Given the description of an element on the screen output the (x, y) to click on. 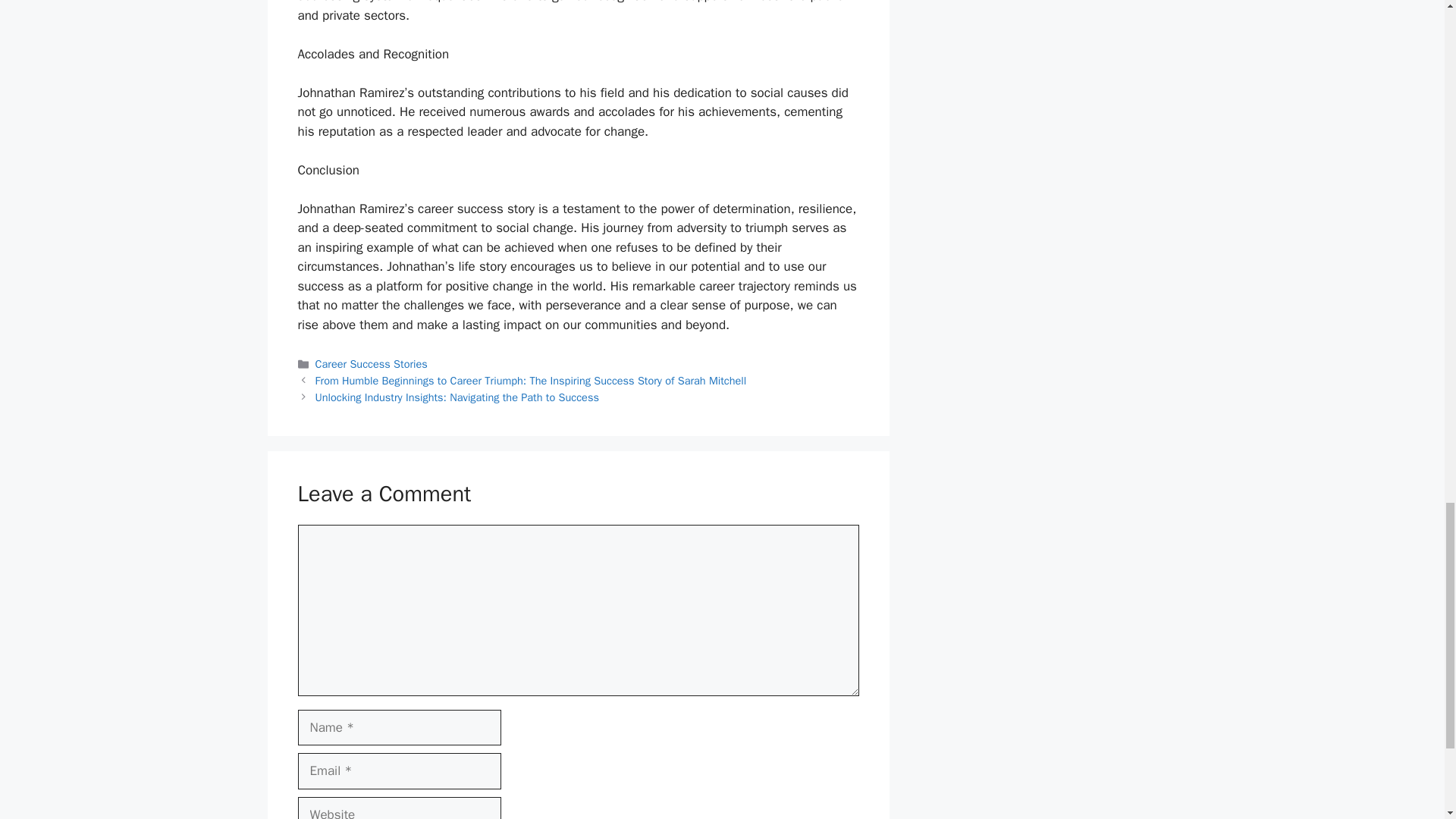
Unlocking Industry Insights: Navigating the Path to Success (456, 397)
Career Success Stories (371, 364)
